Given the description of an element on the screen output the (x, y) to click on. 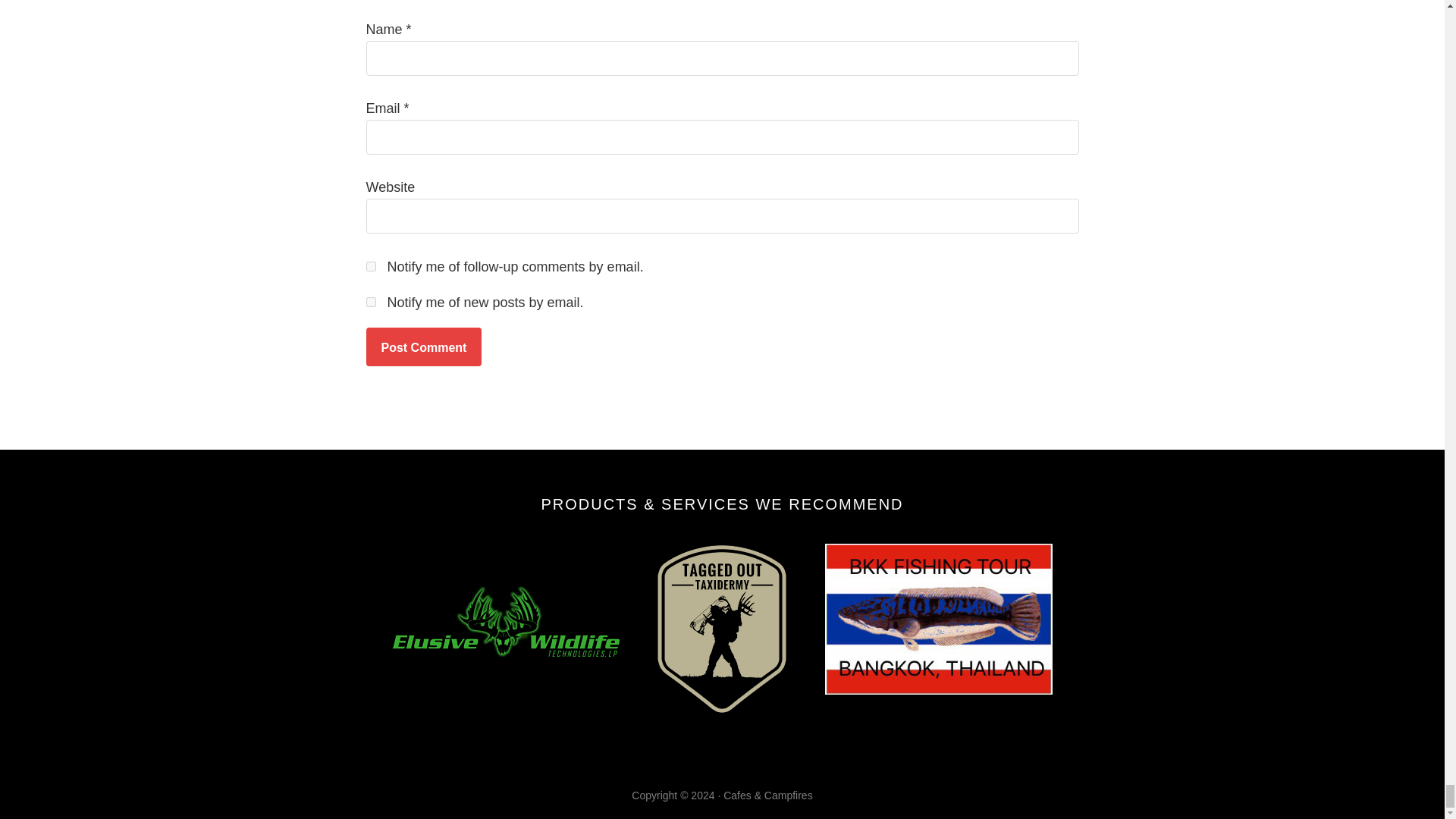
subscribe (370, 266)
subscribe (370, 302)
Post Comment (423, 346)
